Given the description of an element on the screen output the (x, y) to click on. 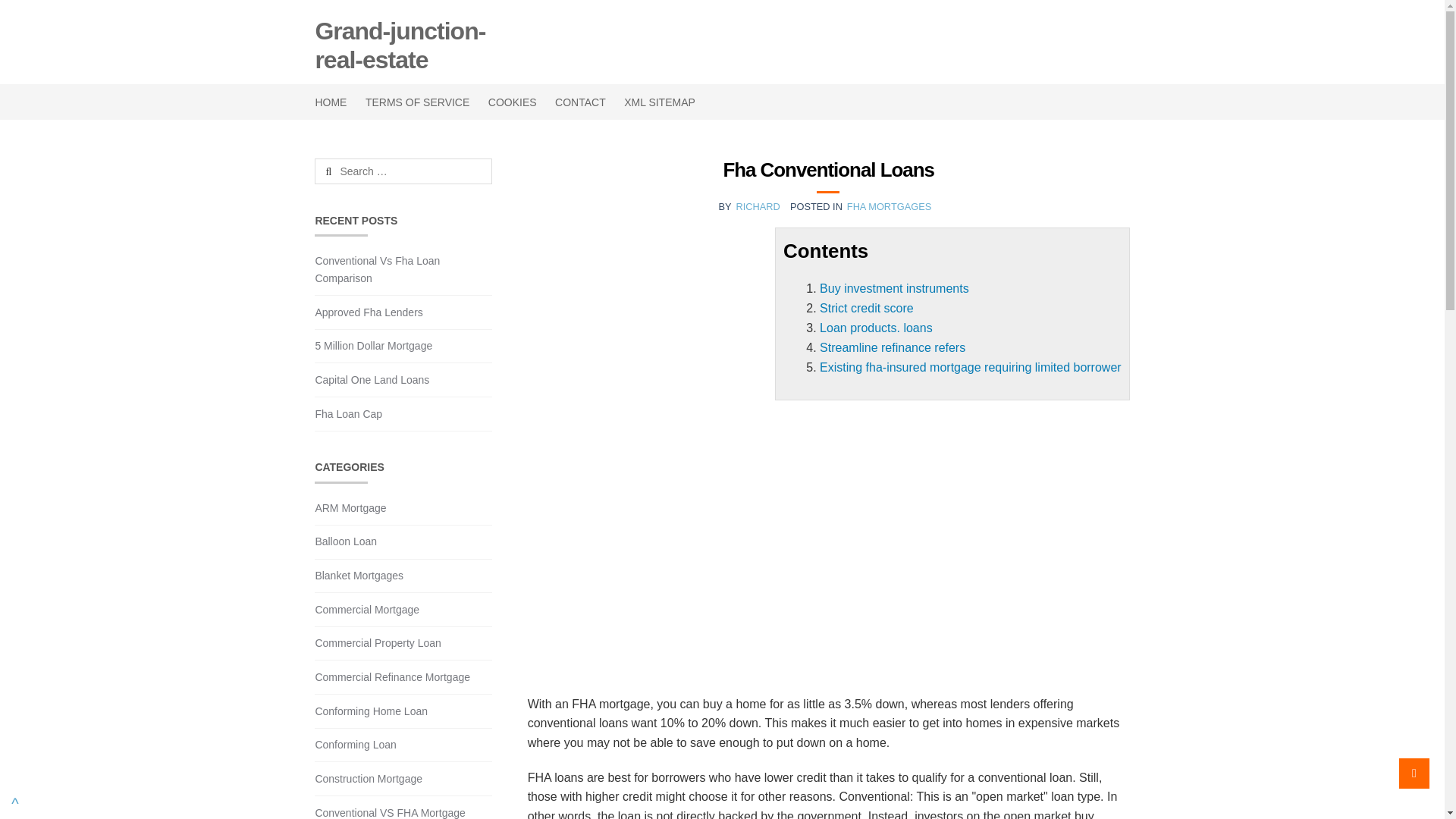
Approved Fha Lenders (368, 312)
Existing fha-insured mortgage requiring limited borrower (970, 367)
Fha Loan Cap (347, 413)
Buy investment instruments (894, 287)
Commercial Mortgage (366, 610)
CONTACT (580, 101)
HOME (334, 101)
XML SITEMAP (659, 101)
Search (351, 171)
Conventional Vs Fha Loan Comparison (376, 269)
